Given the description of an element on the screen output the (x, y) to click on. 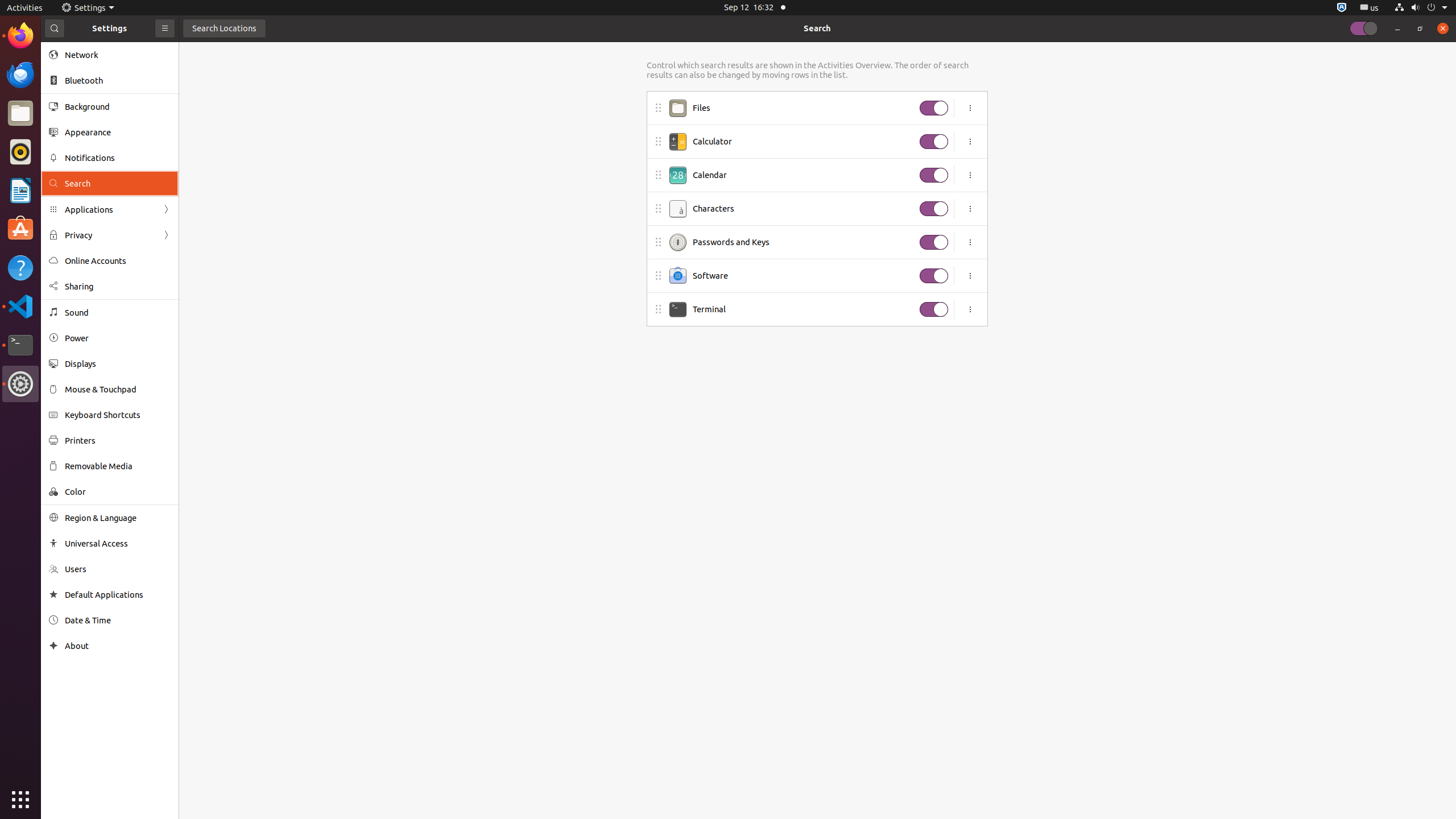
Notifications Element type: label (117, 157)
Terminal Element type: label (802, 309)
Sharing Element type: label (117, 286)
